Given the description of an element on the screen output the (x, y) to click on. 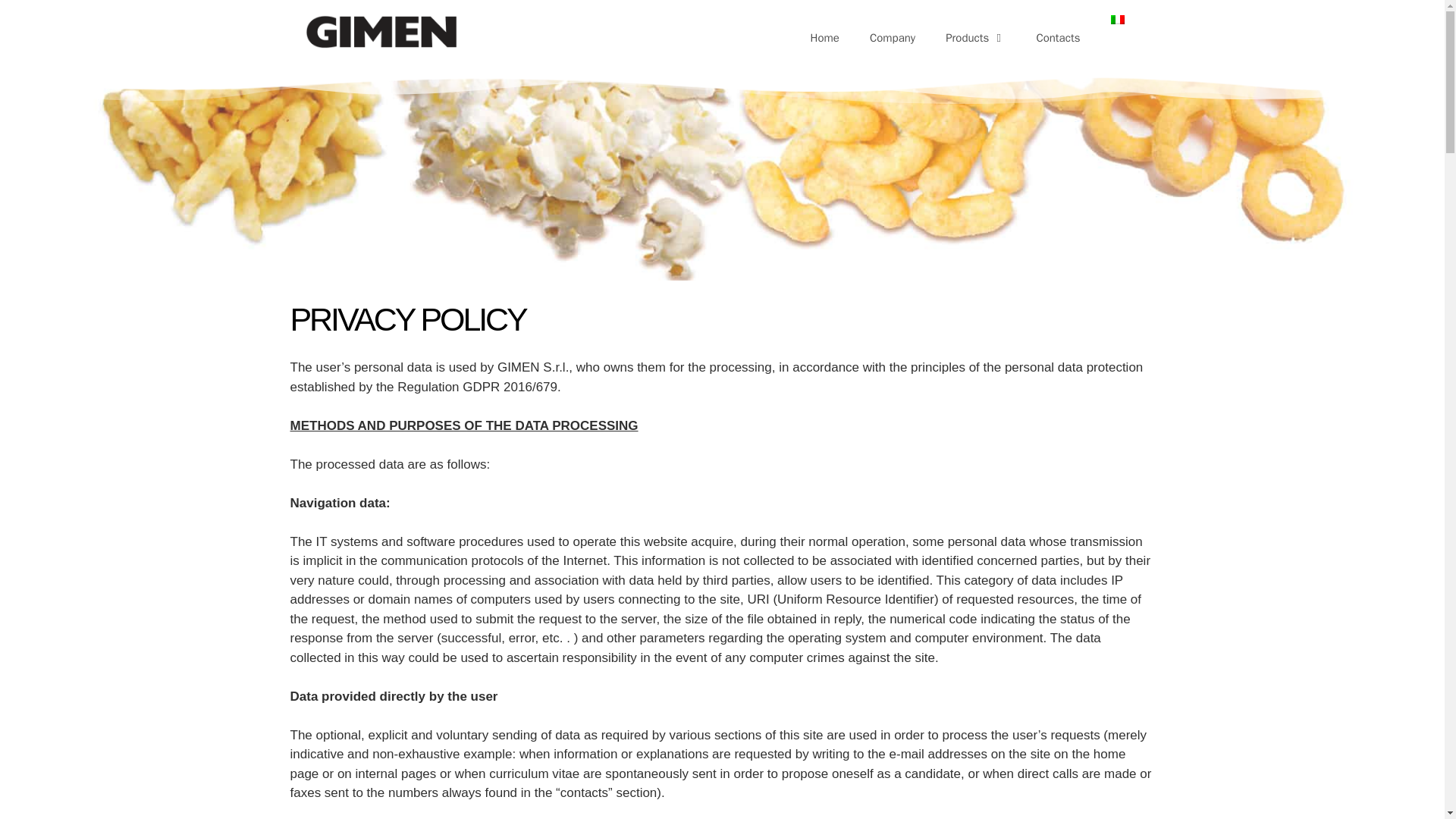
Company (892, 37)
Contacts (1057, 37)
Products (975, 37)
Home (824, 37)
